Given the description of an element on the screen output the (x, y) to click on. 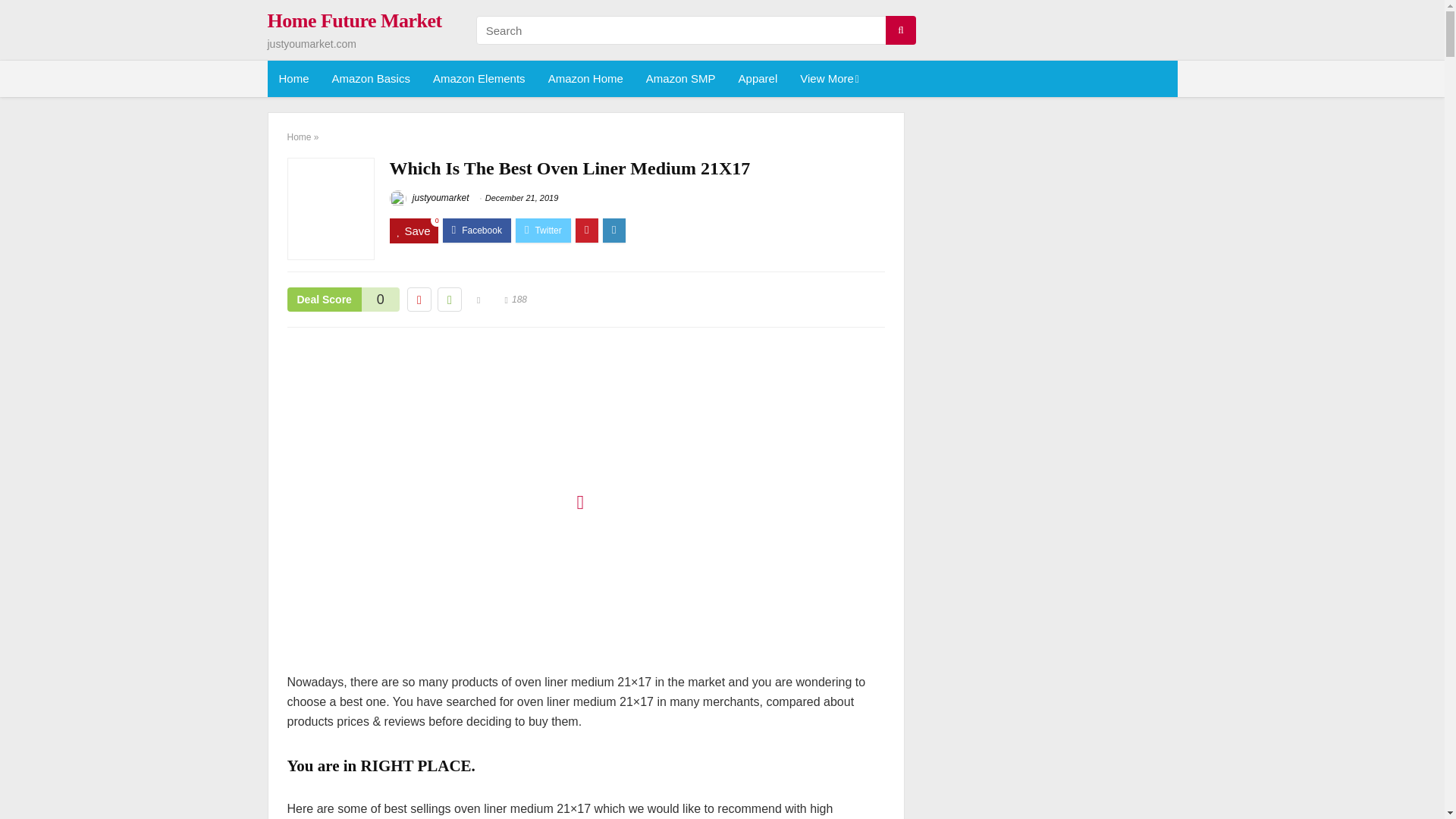
Amazon Basics (371, 78)
Apparel (757, 78)
Amazon Home (585, 78)
Amazon SMP (680, 78)
Amazon Elements (479, 78)
Home (293, 78)
View More (828, 78)
Vote down (418, 299)
